Given the description of an element on the screen output the (x, y) to click on. 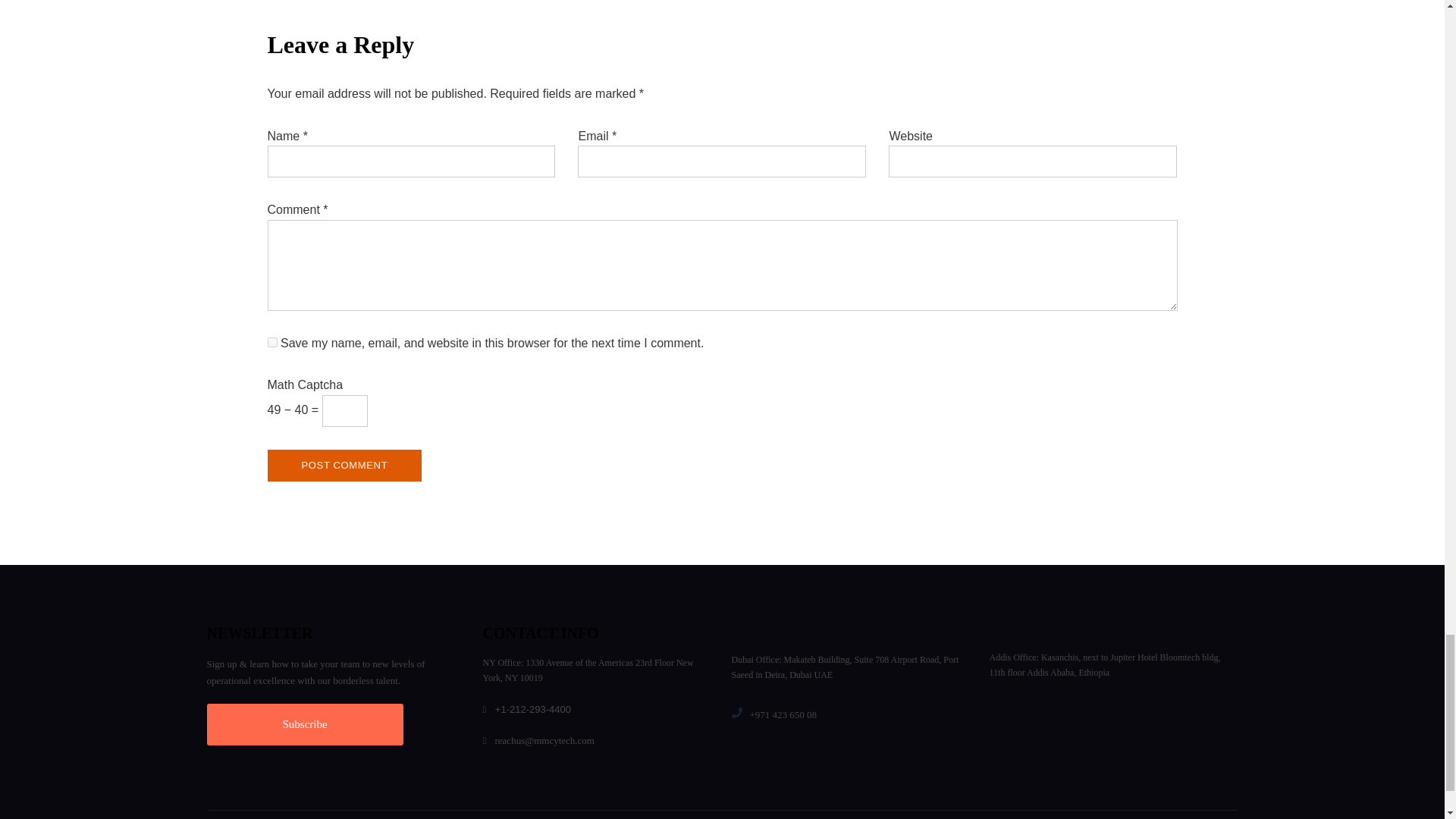
Post Comment (344, 465)
Post Comment (344, 465)
yes (271, 342)
Subscribe (304, 724)
